Given the description of an element on the screen output the (x, y) to click on. 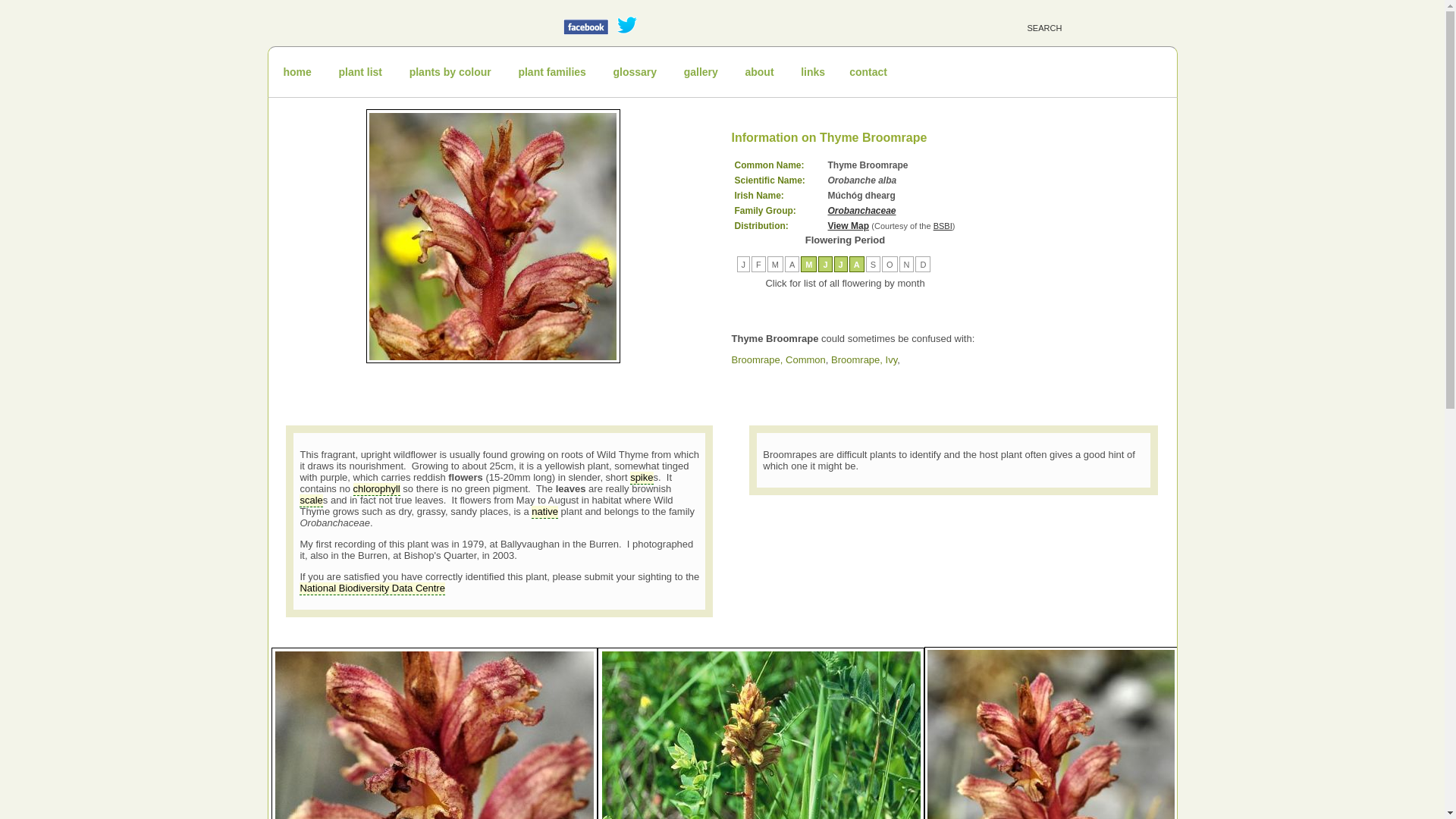
Broomrape, Common (777, 359)
contact (868, 71)
home (296, 71)
gallery (700, 71)
links (813, 71)
about (759, 71)
SEARCH (1075, 25)
plant families (550, 71)
plants by colour (450, 71)
Orobanchaceae (862, 210)
